Given the description of an element on the screen output the (x, y) to click on. 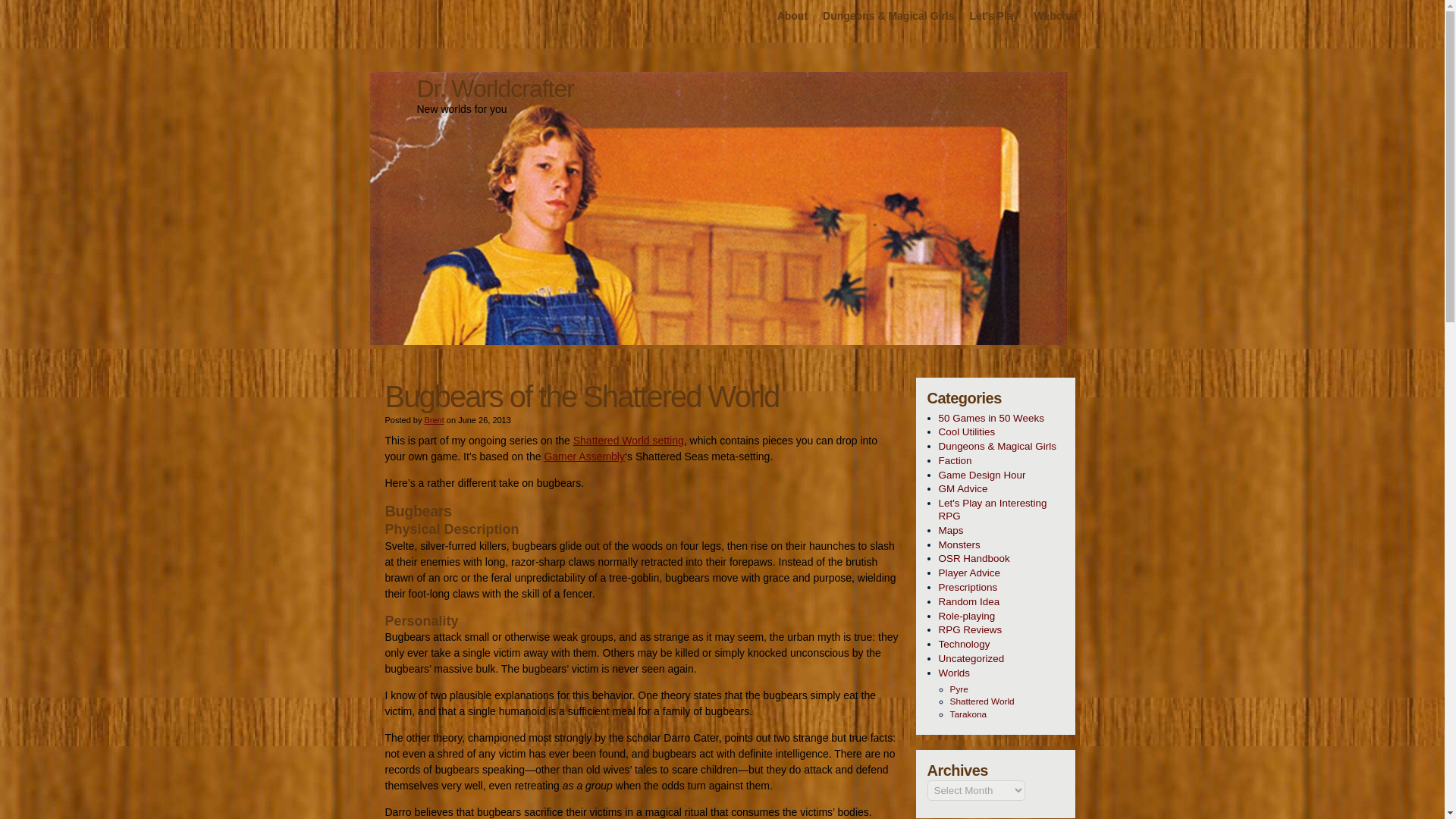
50 Games in 50 Weeks (1001, 418)
Random Idea (1001, 602)
Cool Utilities (1001, 432)
Webchat (1055, 16)
Pyre (1005, 689)
Worlds (1001, 673)
Let's Play an Interesting RPG (1001, 510)
Shattered World (1005, 701)
About (792, 16)
Prescriptions (1001, 587)
